Given the description of an element on the screen output the (x, y) to click on. 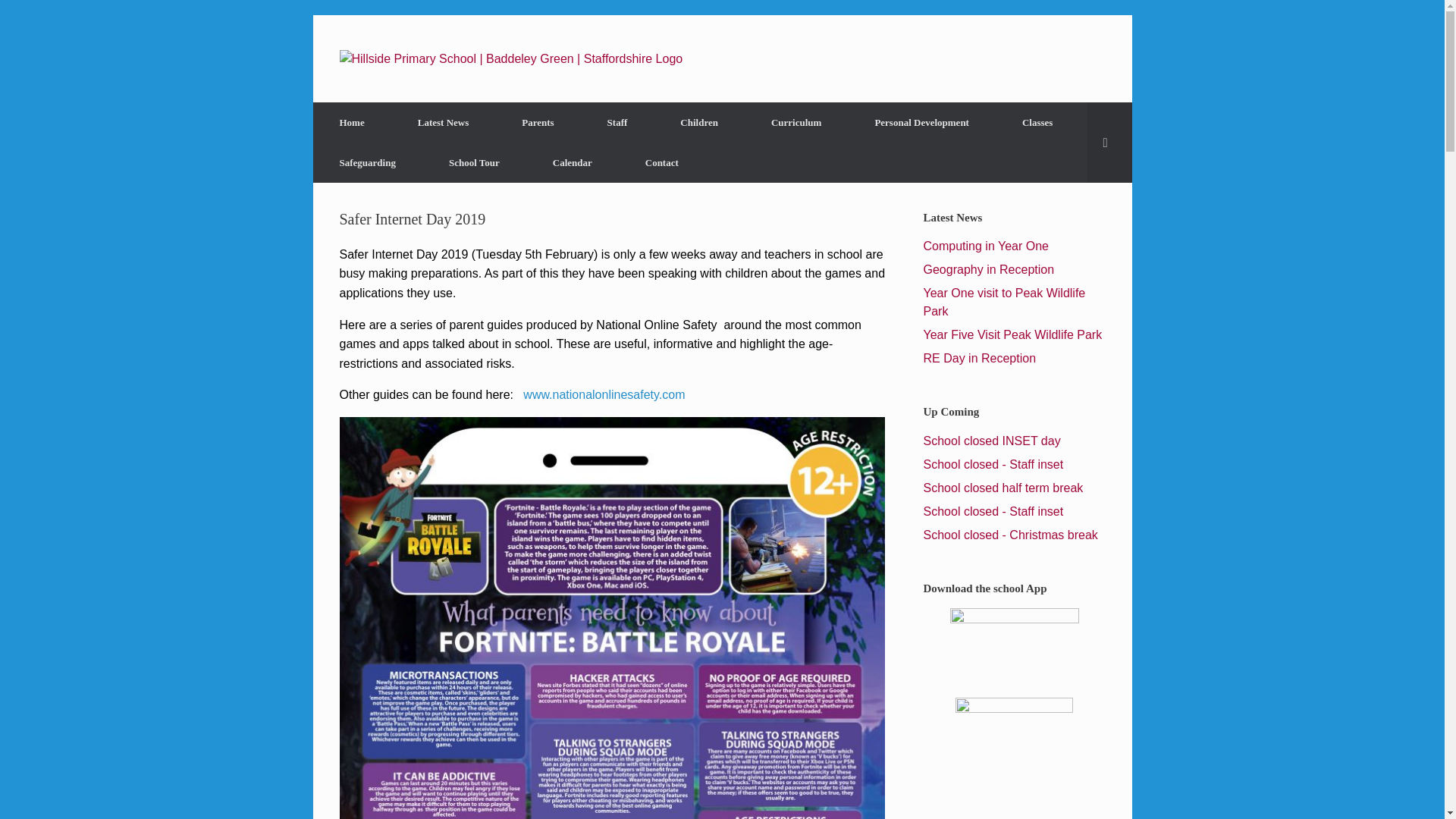
Latest News (443, 122)
Children (698, 122)
Parents (537, 122)
Home (351, 122)
Curriculum (795, 122)
Staff (616, 122)
